Given the description of an element on the screen output the (x, y) to click on. 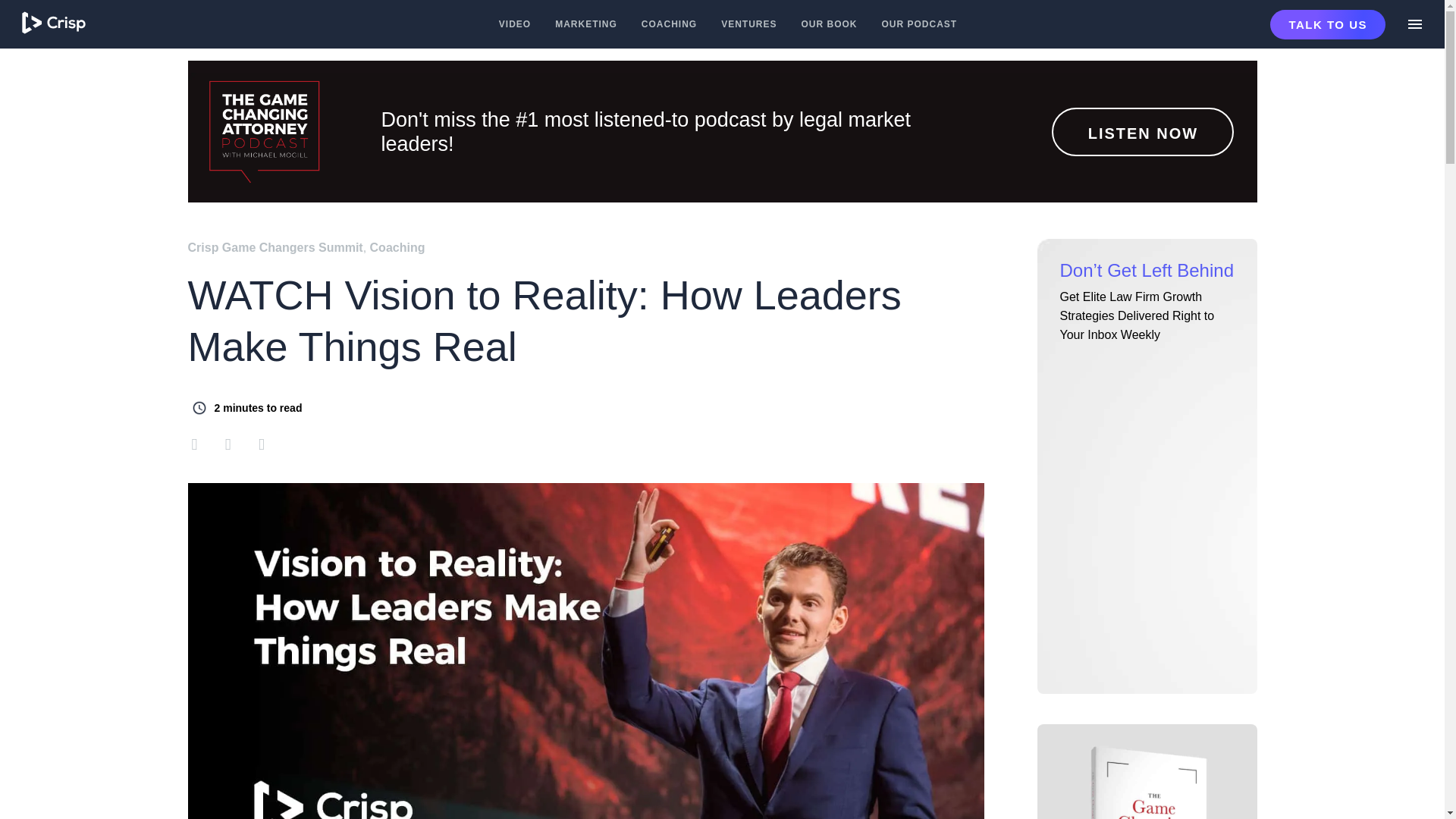
VIDEO (515, 24)
Coaching (397, 246)
Email (198, 442)
Facebook (227, 442)
Twitter (261, 442)
VENTURES (748, 24)
TALK TO US (1327, 23)
MARKETING (585, 24)
Crisp Game Changers Summit (274, 246)
LISTEN NOW (1142, 131)
COACHING (669, 24)
OUR BOOK (829, 24)
OUR PODCAST (920, 24)
